Given the description of an element on the screen output the (x, y) to click on. 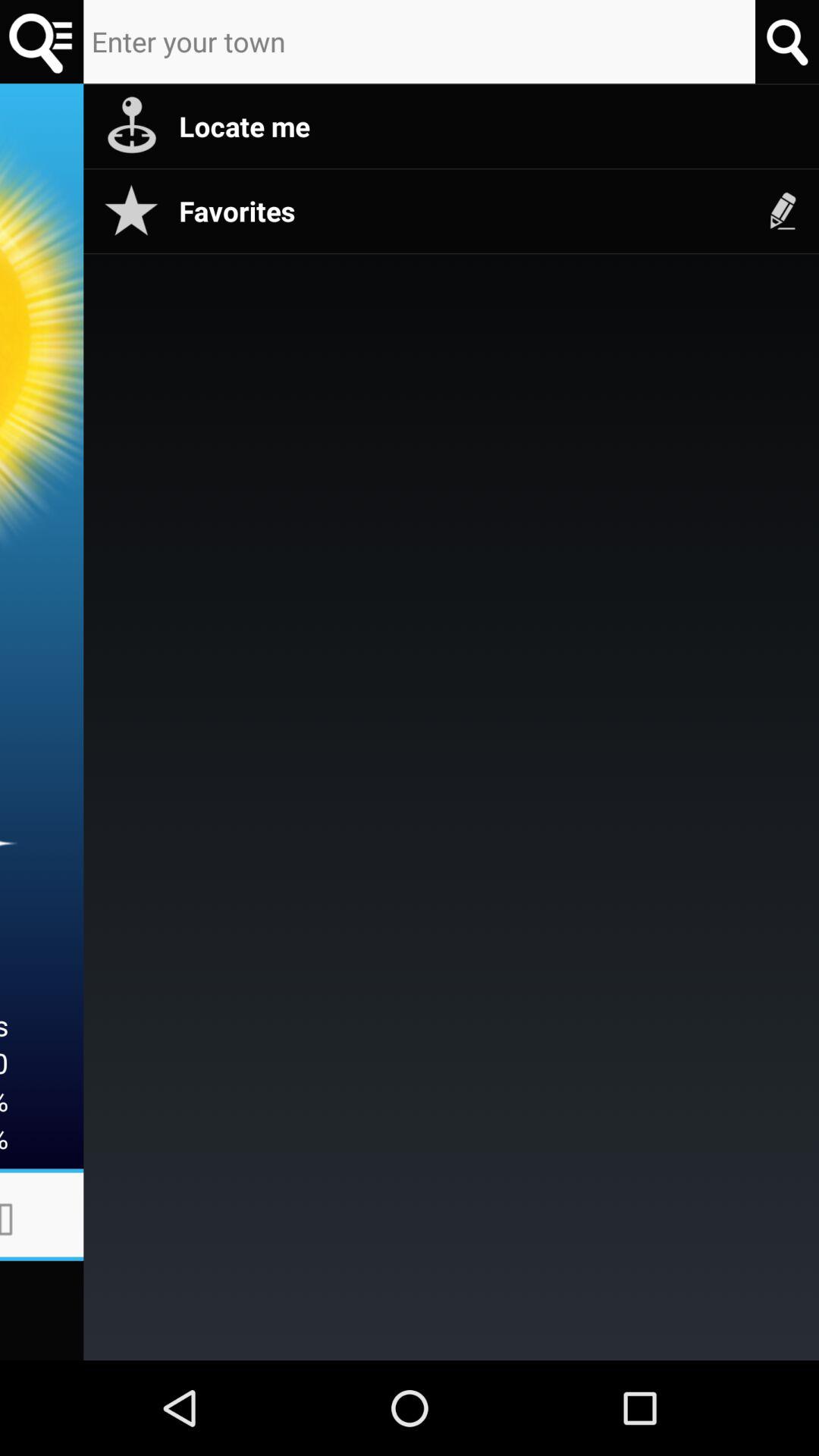
go to search option (787, 41)
